Given the description of an element on the screen output the (x, y) to click on. 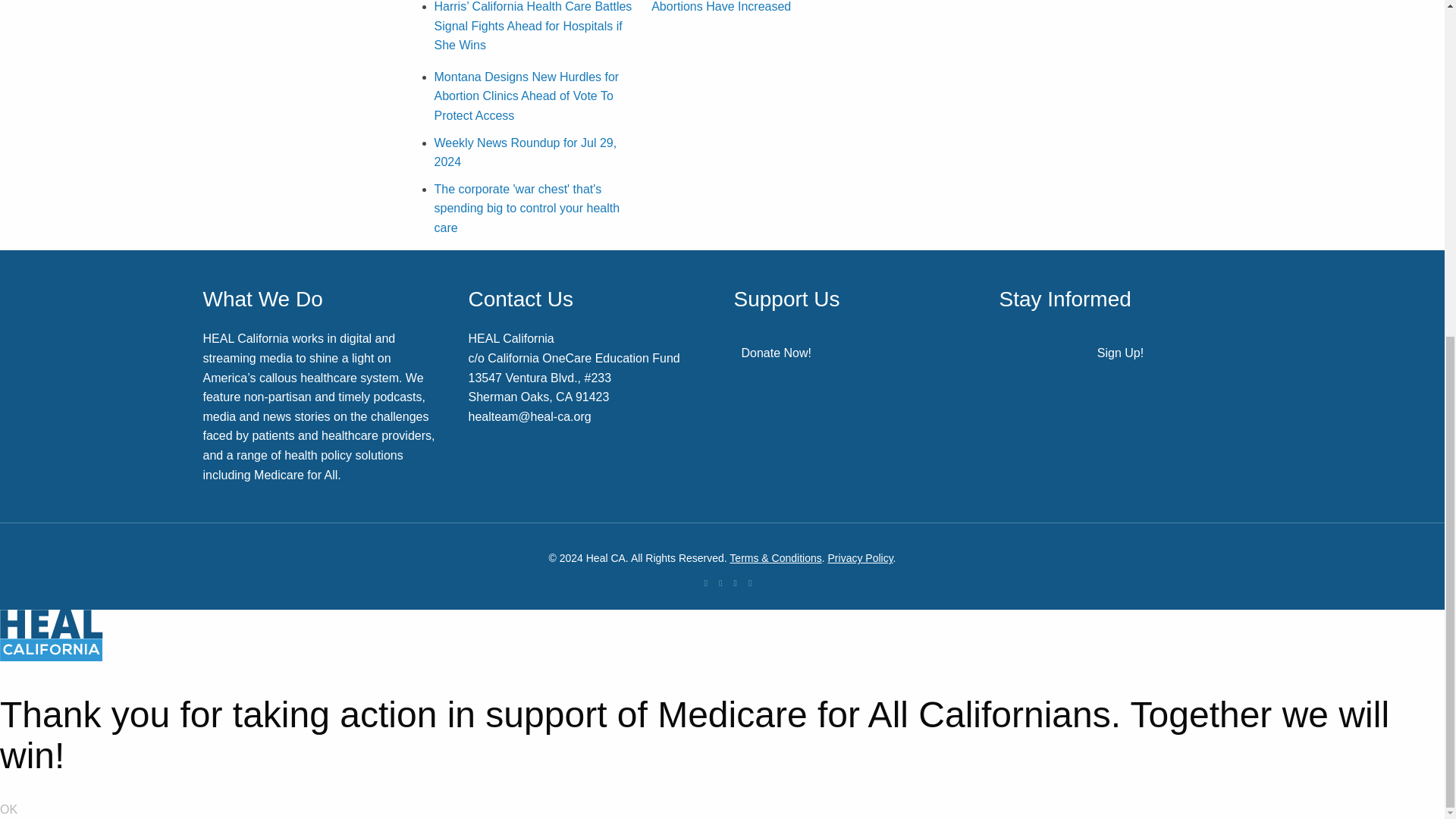
Donate Now! (776, 353)
Sign Up! (1120, 353)
Weekly News Roundup for Jul 29, 2024 (524, 152)
Privacy Policy (860, 558)
